Given the description of an element on the screen output the (x, y) to click on. 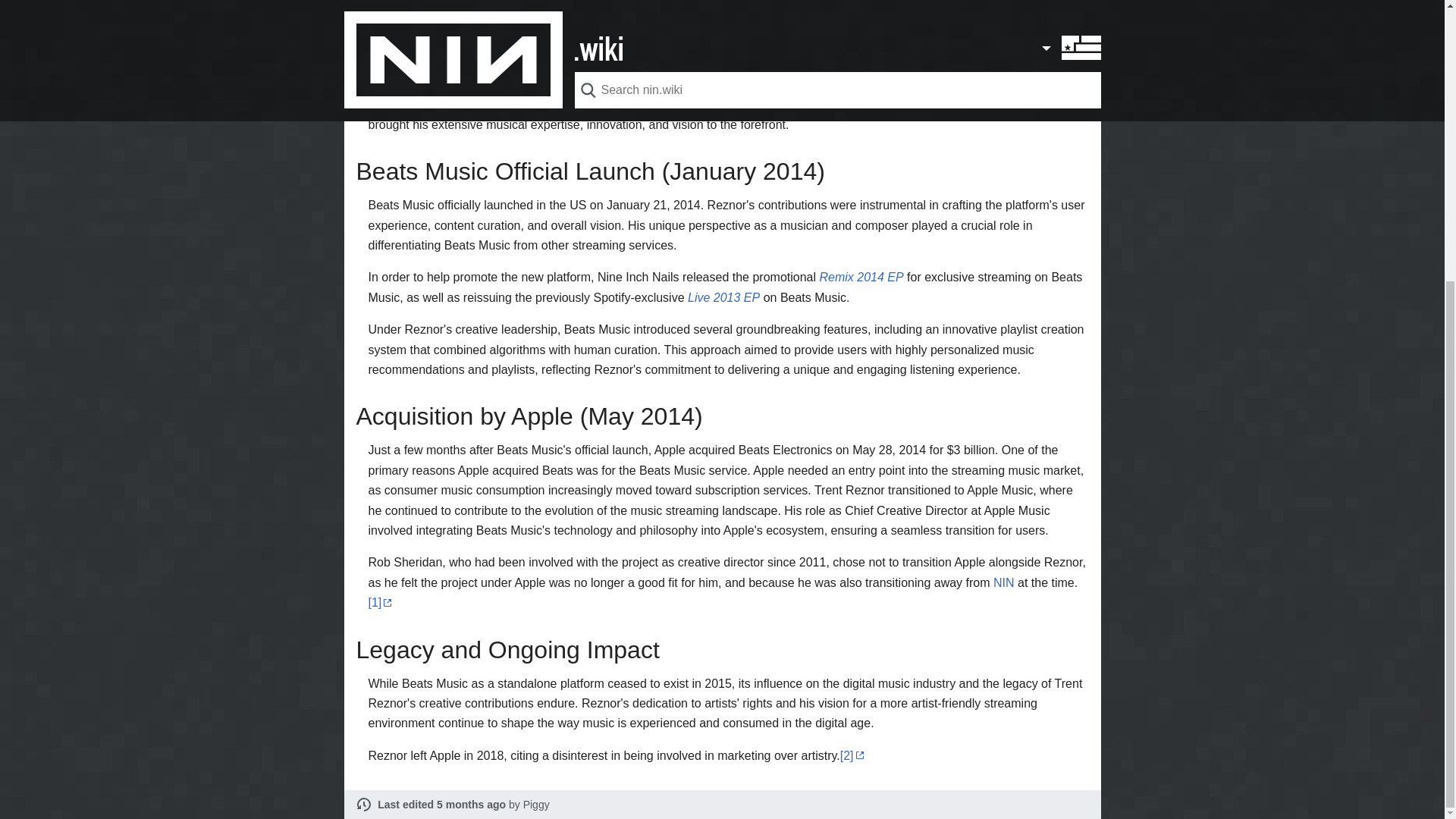
NIN (1003, 582)
Remix 2014 EP (860, 277)
Remix 2014 EP (860, 277)
Live 2013 EP (723, 297)
Piggy (536, 804)
Live 2013 EP (723, 297)
NIN (1003, 582)
Last edited 5 months ago (441, 804)
